Given the description of an element on the screen output the (x, y) to click on. 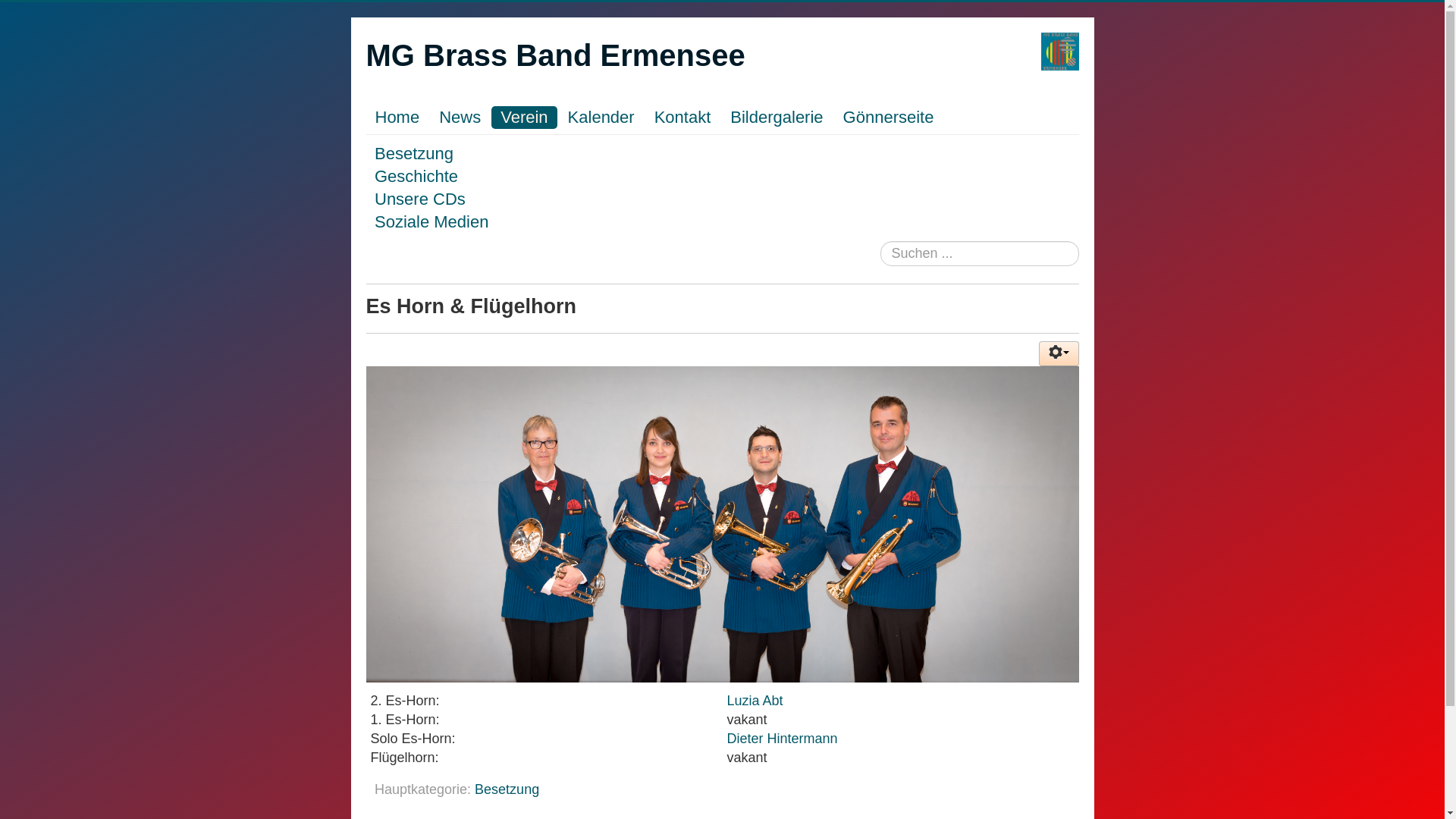
Besetzung Element type: text (413, 153)
Unsere CDs Element type: text (419, 198)
Verein Element type: text (523, 117)
Soziale Medien Element type: text (431, 221)
Kontakt Element type: text (682, 117)
News Element type: text (459, 117)
Bildergalerie Element type: text (776, 117)
Luzia Abt Element type: text (755, 700)
Besetzung Element type: text (506, 789)
MG Brass Band Ermensee Element type: text (554, 55)
Dieter Hintermann Element type: text (782, 738)
Kalender Element type: text (600, 117)
Home Element type: text (396, 117)
Geschichte Element type: text (416, 175)
